Given the description of an element on the screen output the (x, y) to click on. 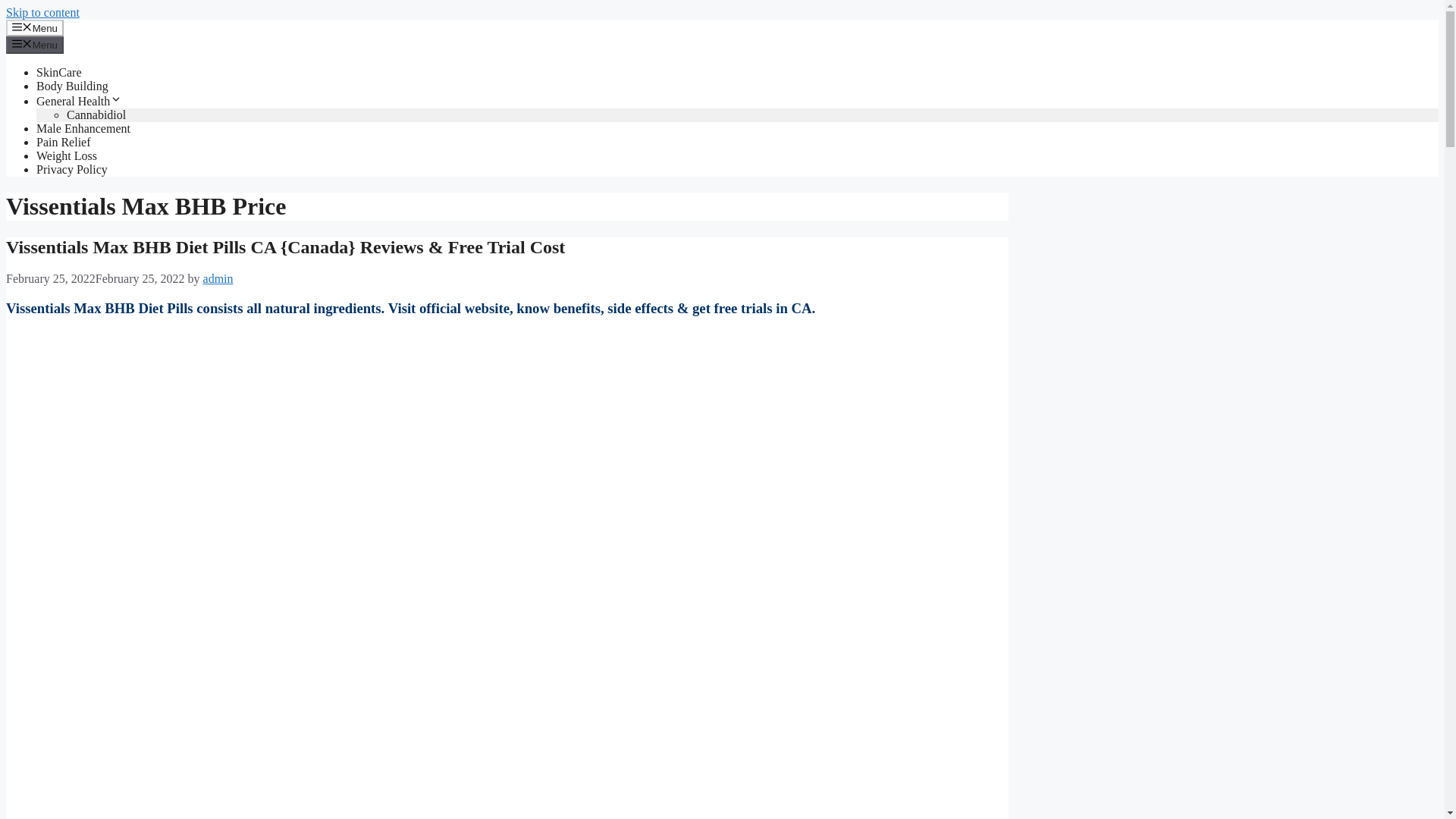
Menu (34, 27)
Skip to content (42, 11)
SkinCare (58, 72)
Privacy Policy (71, 169)
View all posts by admin (217, 278)
Body Building (71, 85)
General Health (79, 101)
Pain Relief (63, 141)
Skip to content (42, 11)
Cannabidiol (95, 114)
Menu (34, 44)
Male Enhancement (83, 128)
admin (217, 278)
Weight Loss (66, 155)
